Given the description of an element on the screen output the (x, y) to click on. 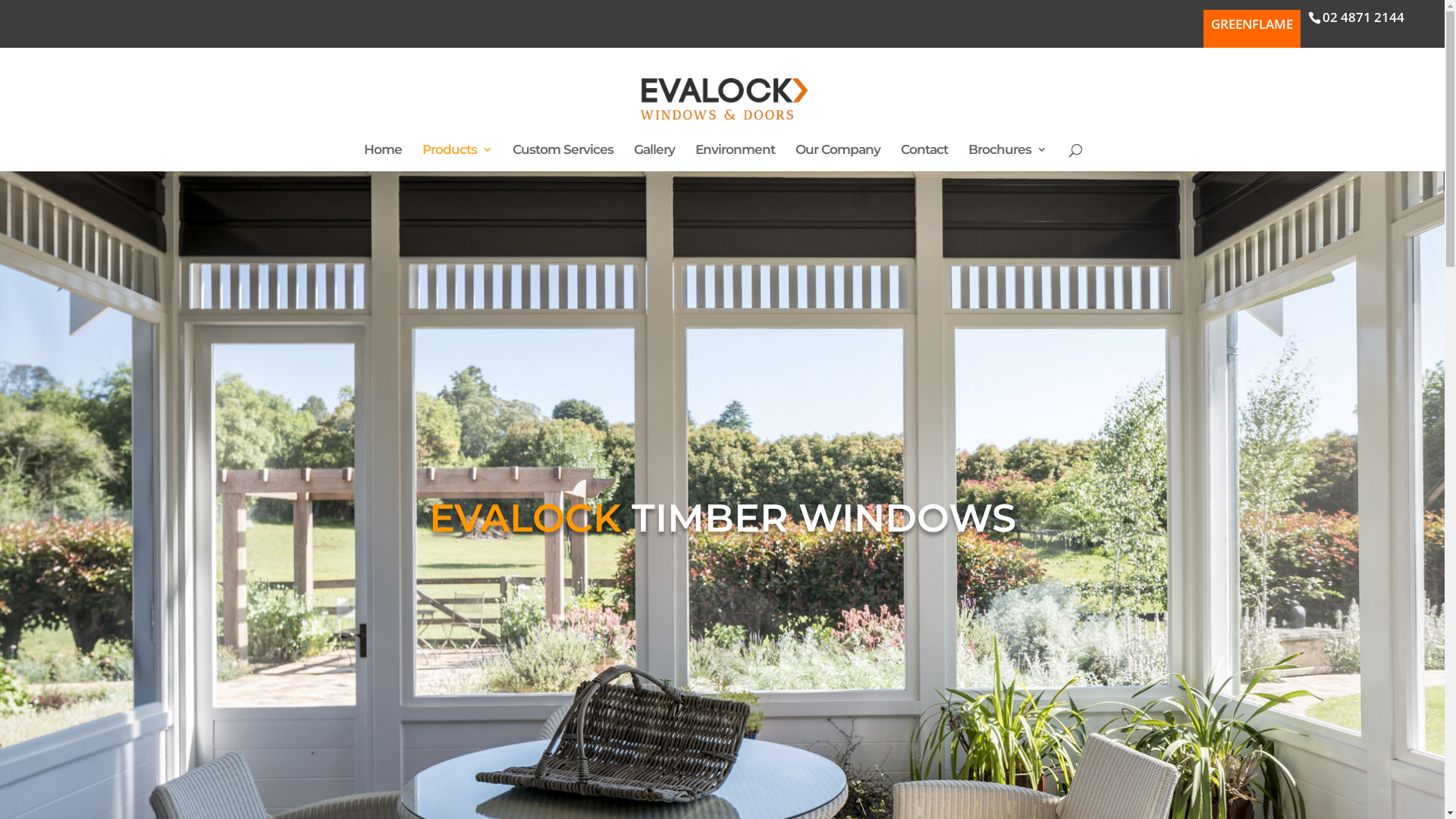
Brochures Element type: text (1007, 157)
Custom Services Element type: text (562, 157)
GREENFLAME Element type: text (1251, 28)
Environment Element type: text (735, 157)
Products Element type: text (457, 157)
Gallery Element type: text (653, 157)
Home Element type: text (382, 157)
Our Company Element type: text (837, 157)
Contact Element type: text (923, 157)
